Given the description of an element on the screen output the (x, y) to click on. 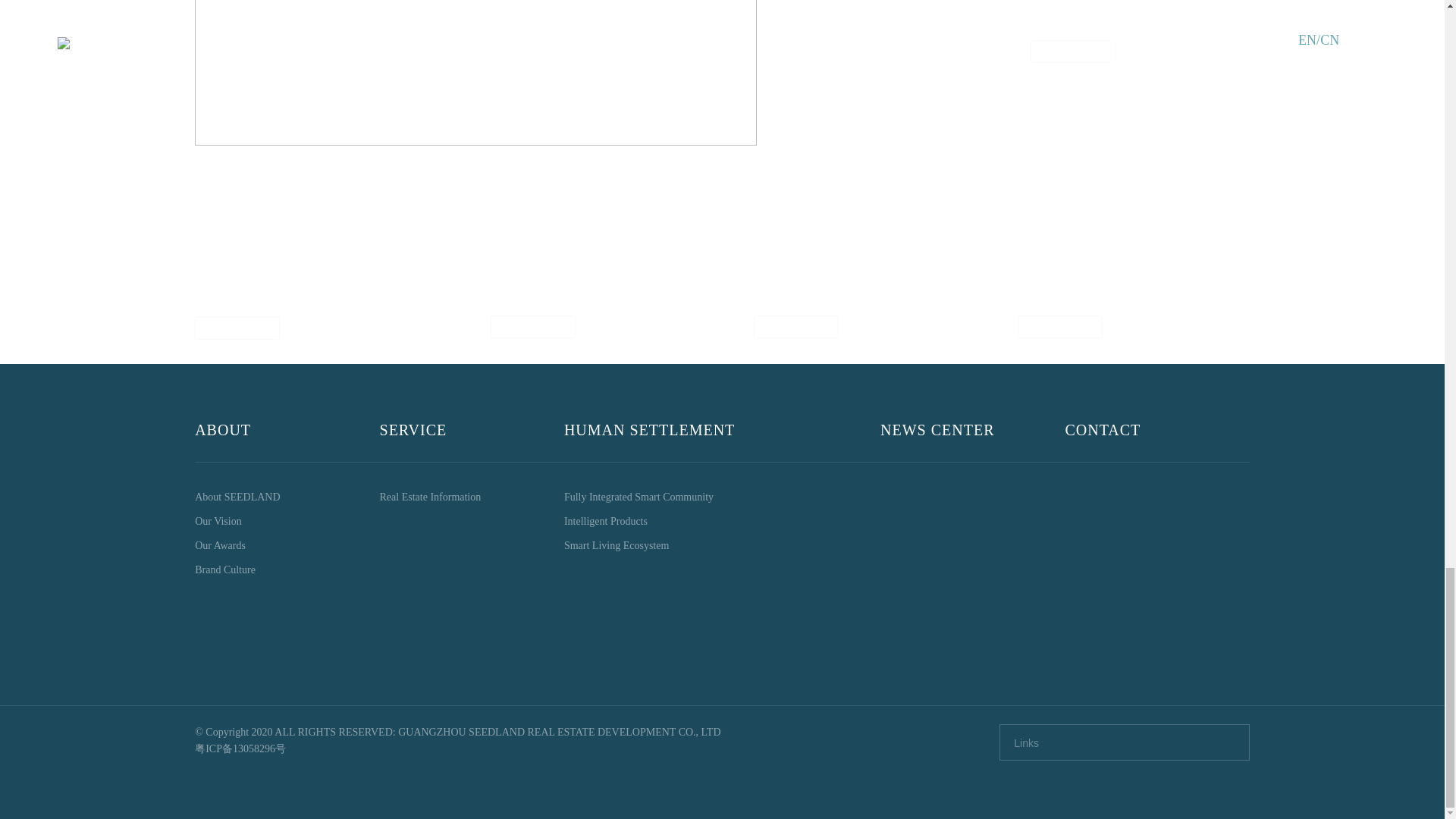
About SEEDLAND (286, 497)
EXPLORE (1072, 51)
EXPLORE (795, 326)
EXPLORE (237, 328)
EXPLORE (1059, 326)
EXPLORE (532, 326)
